Given the description of an element on the screen output the (x, y) to click on. 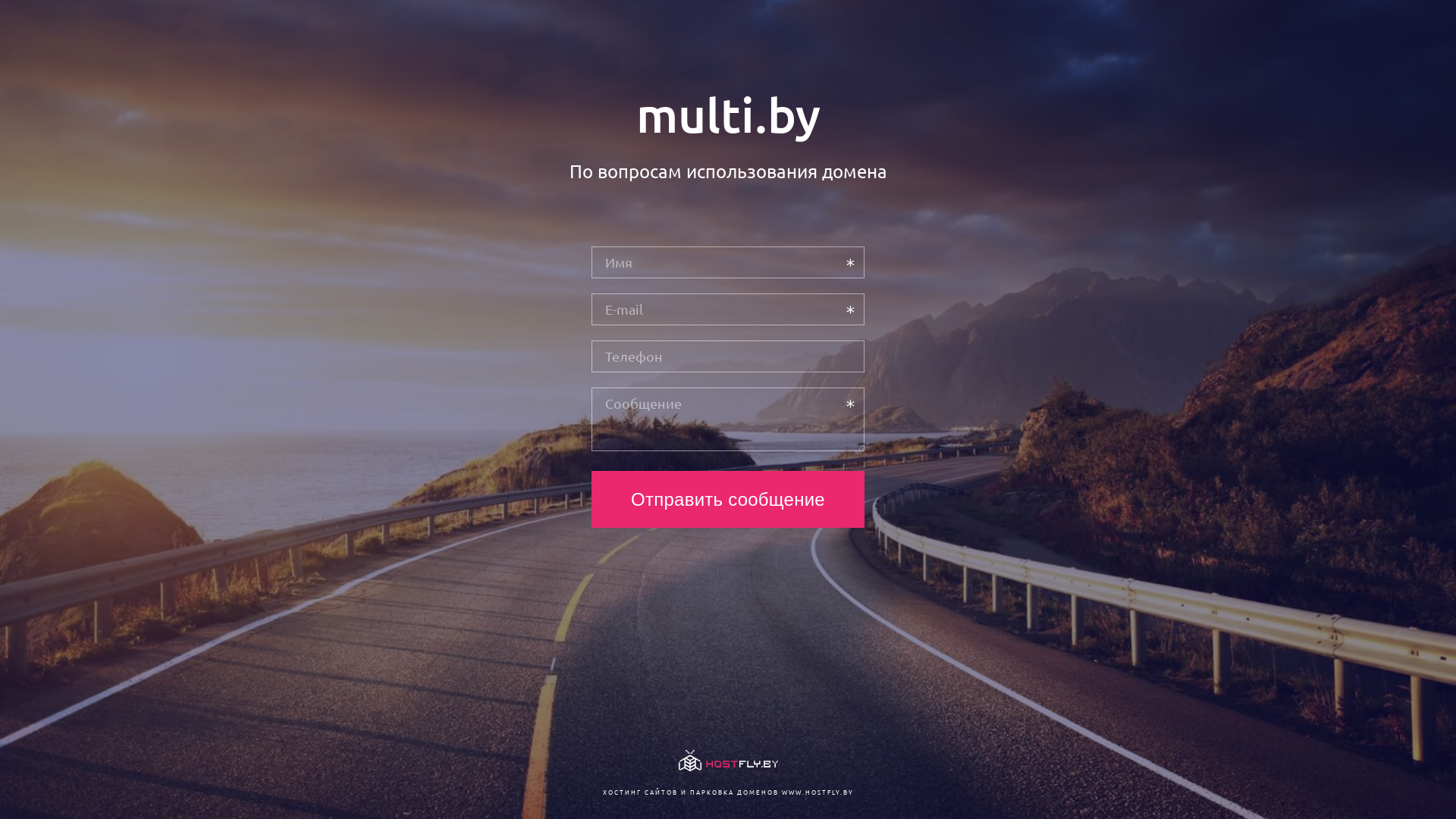
WWW.HOSTFLY.BY Element type: text (817, 791)
